Given the description of an element on the screen output the (x, y) to click on. 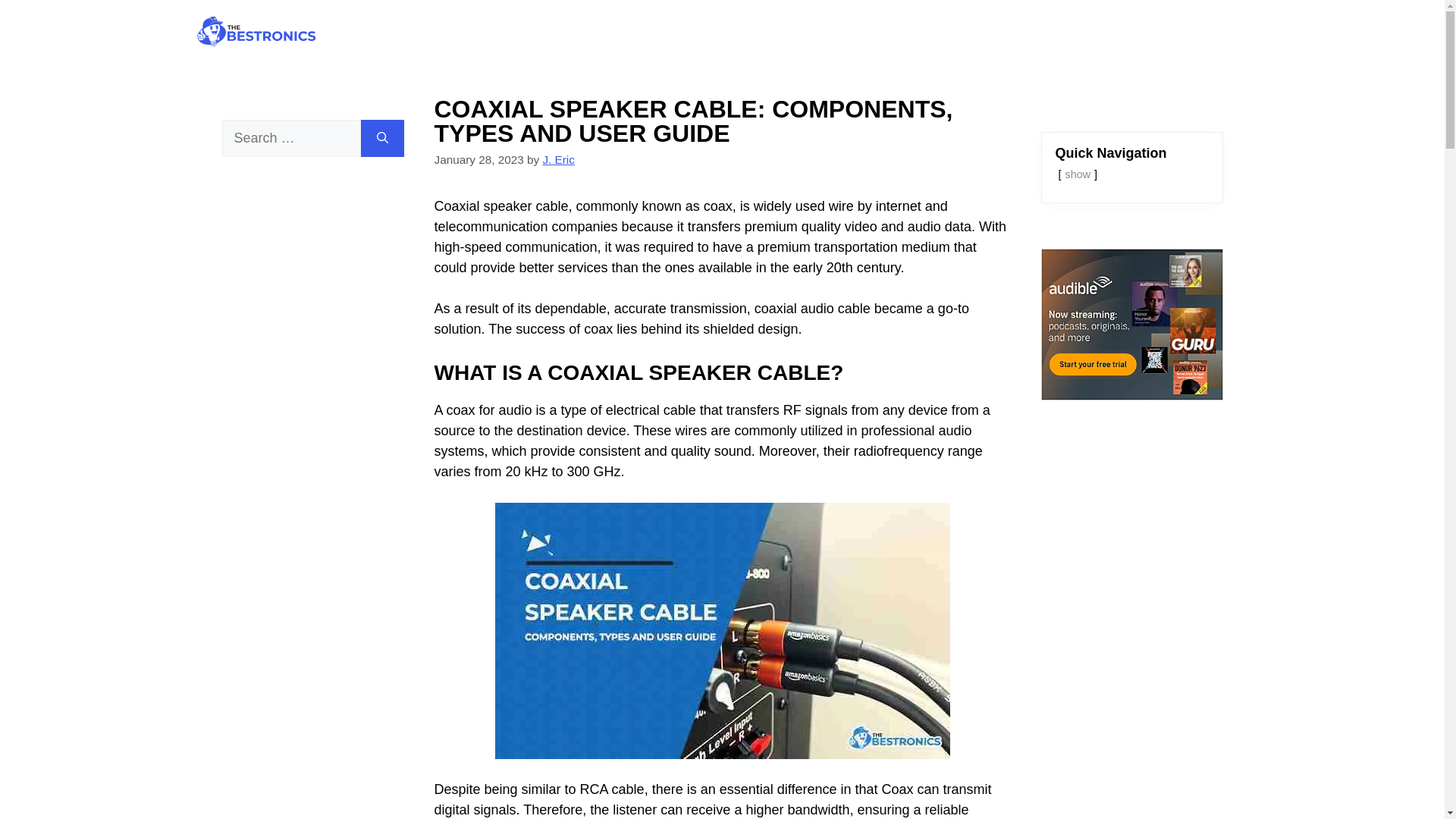
View all posts by J. Eric (558, 159)
Search for: (290, 138)
J. Eric (558, 159)
show (1077, 174)
